Given the description of an element on the screen output the (x, y) to click on. 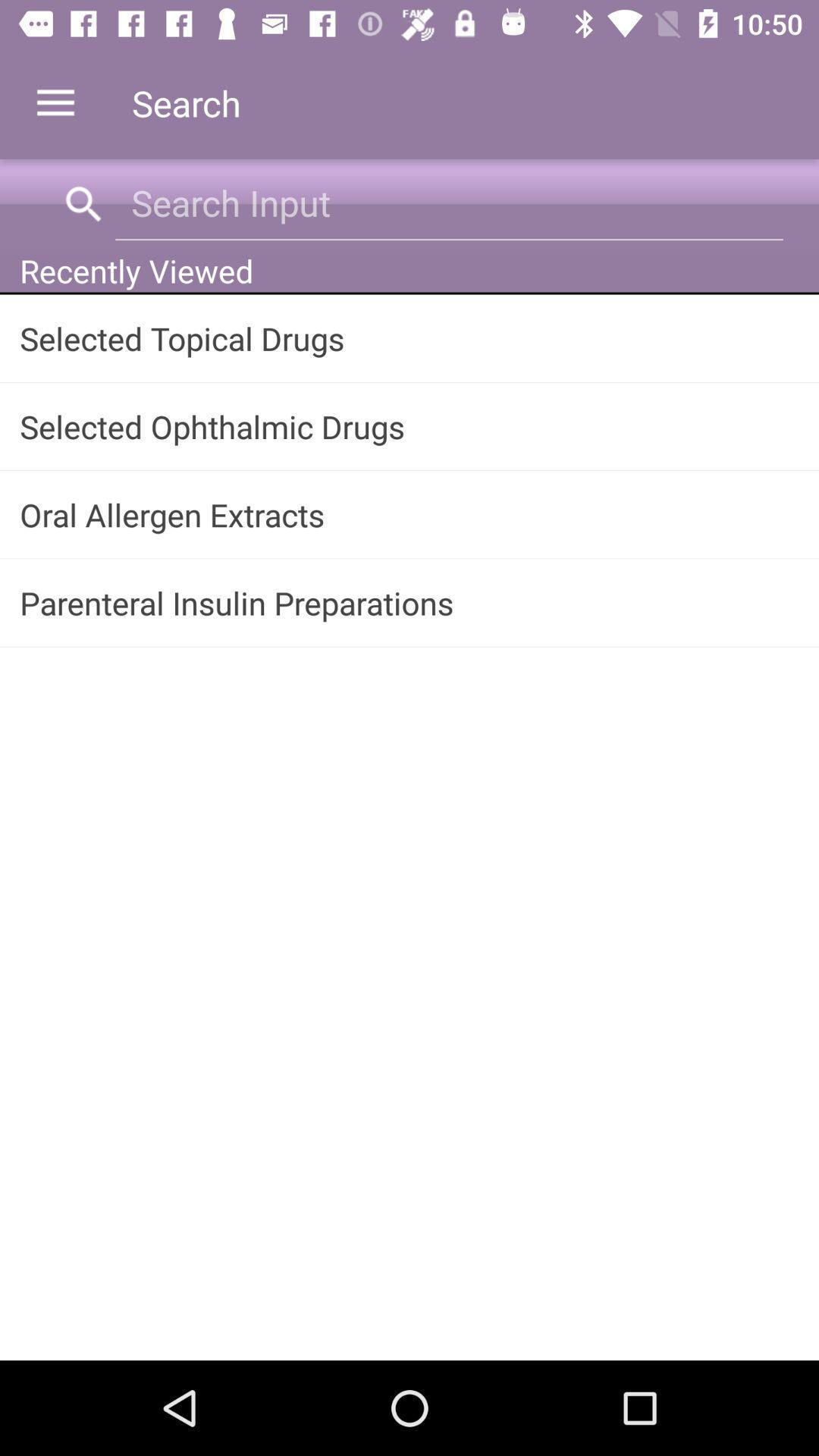
turn on the app below selected topical drugs app (409, 426)
